Given the description of an element on the screen output the (x, y) to click on. 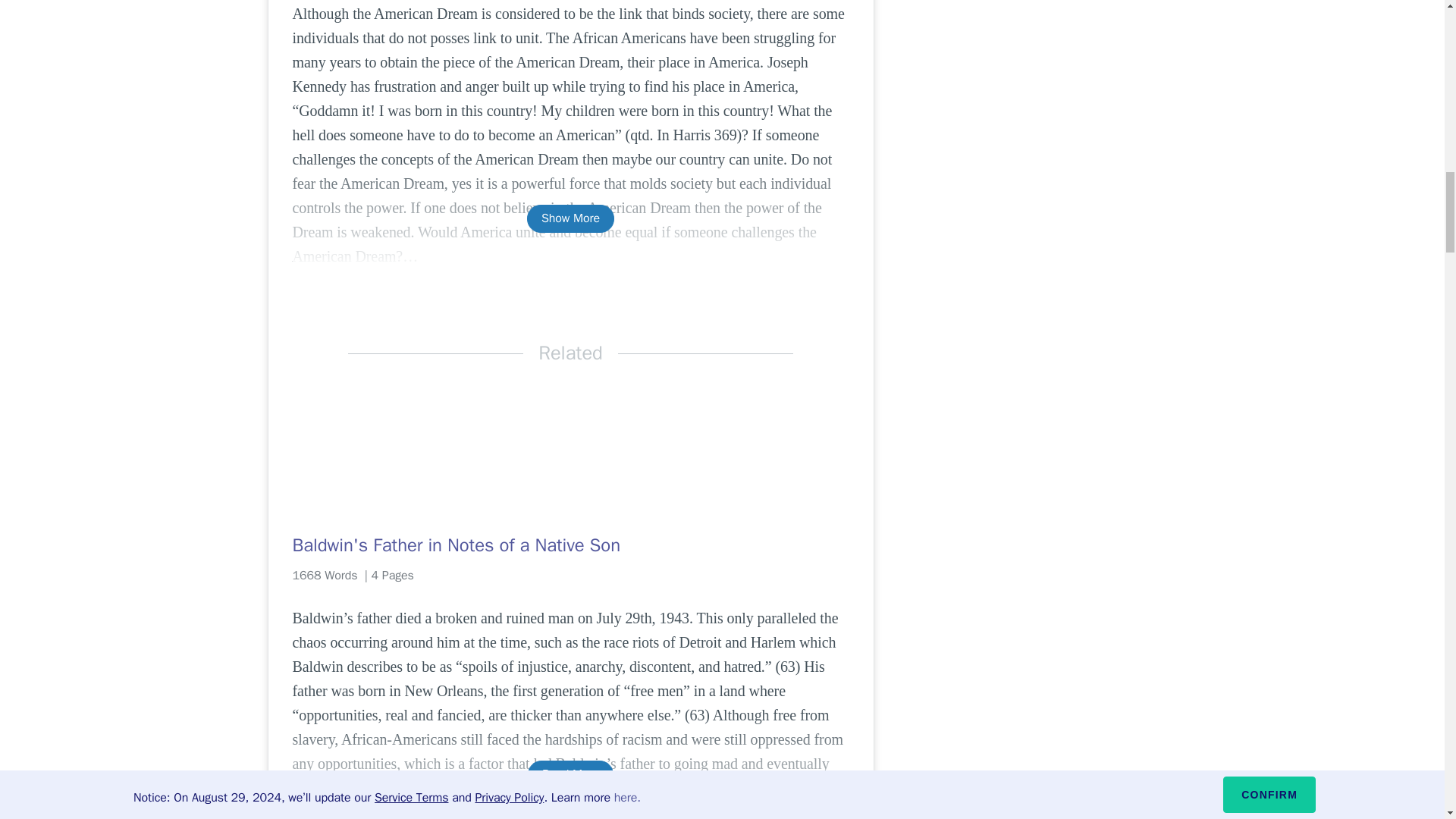
Show More (570, 218)
Baldwin's Father in Notes of a Native Son (570, 545)
Read More (569, 774)
